Given the description of an element on the screen output the (x, y) to click on. 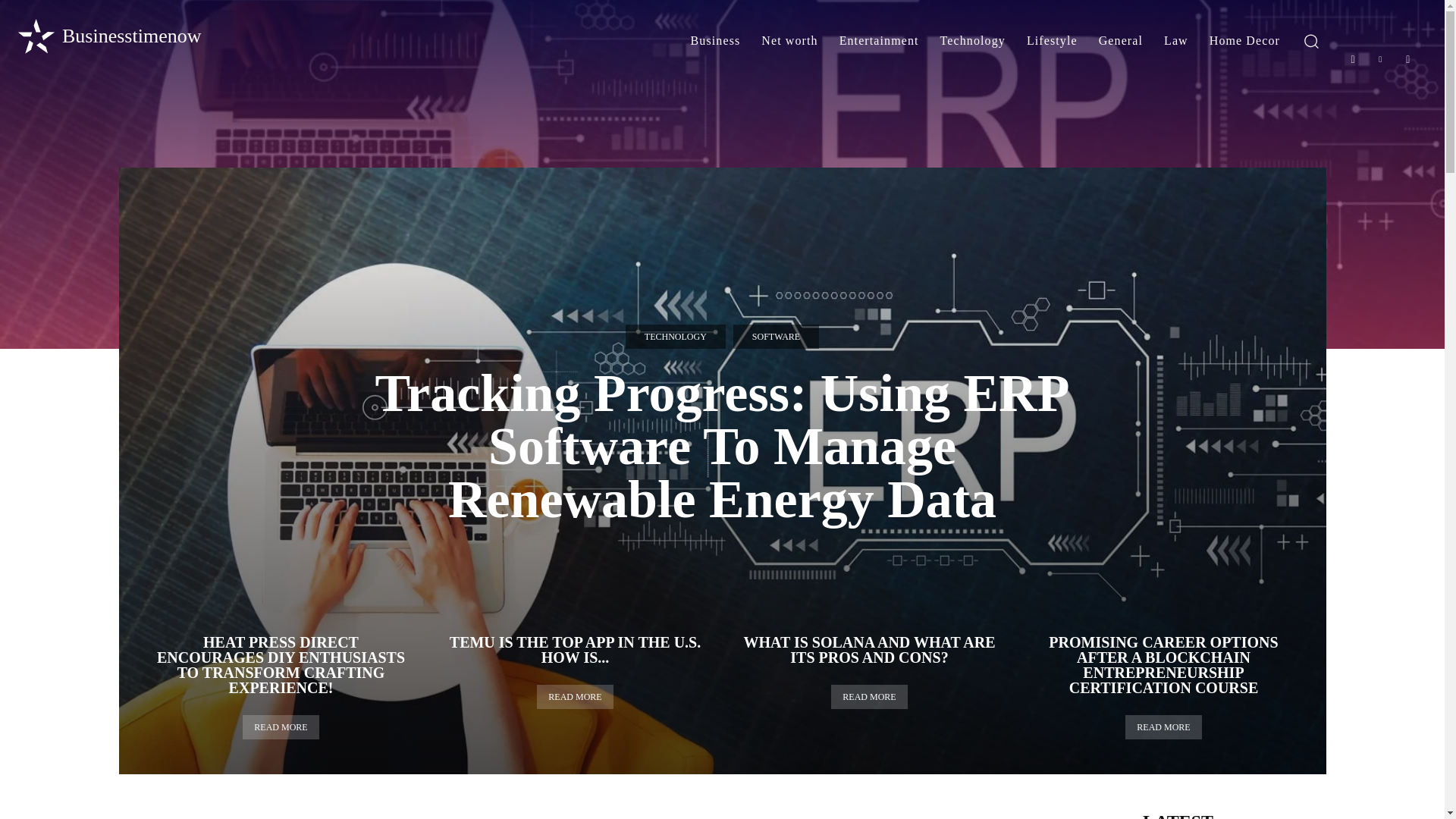
Lifestyle (1051, 40)
TECHNOLOGY (675, 336)
Facebook (1353, 58)
Law (1175, 40)
Home Decor (1244, 40)
Entertainment (879, 40)
Technology (973, 40)
Business (715, 40)
Businesstimenow (107, 36)
SOFTWARE (775, 336)
Businesstimenow (107, 36)
Net worth (789, 40)
General (1120, 40)
Linkedin (1380, 58)
